Given the description of an element on the screen output the (x, y) to click on. 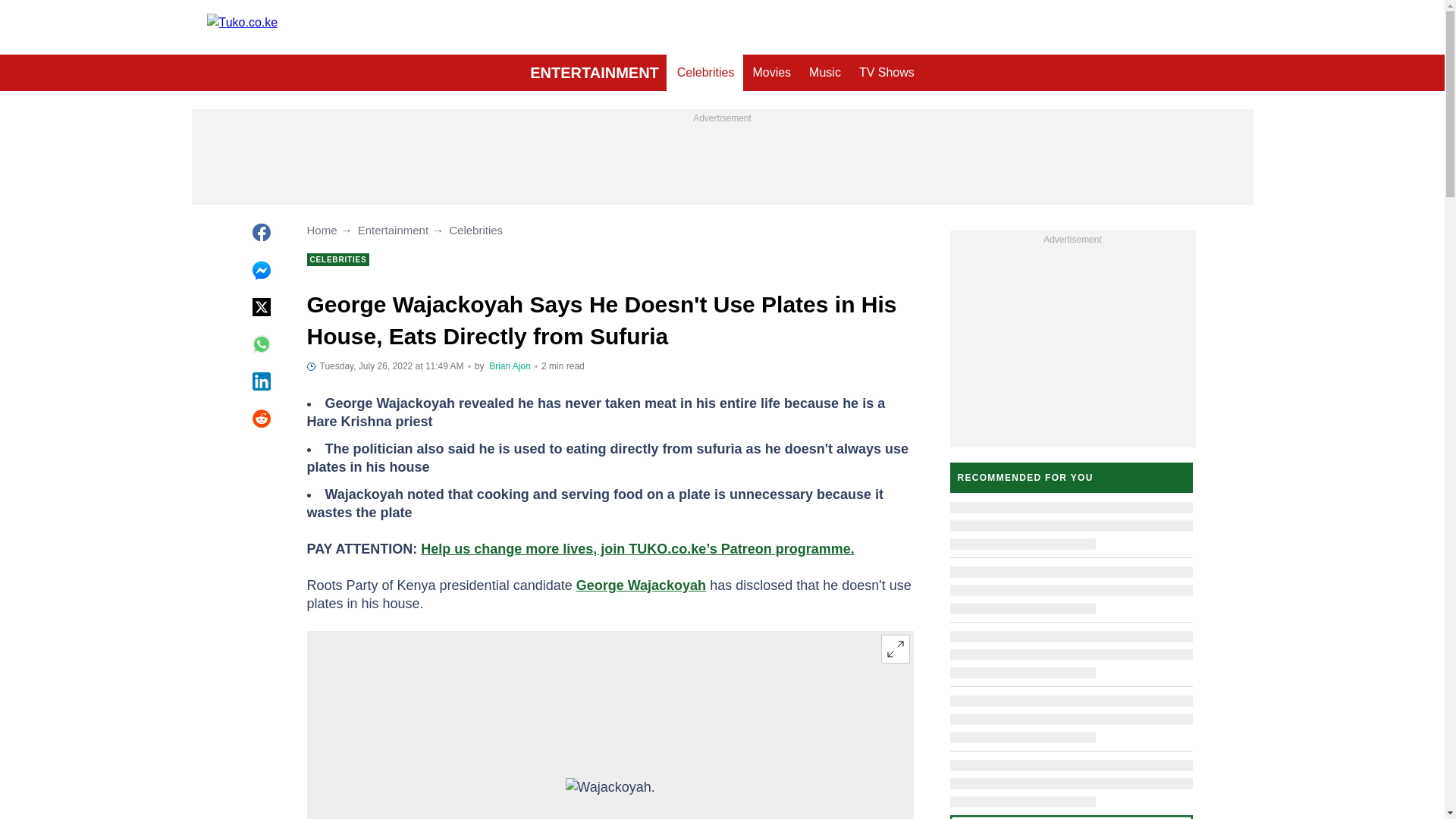
Expand image (895, 648)
Music (824, 72)
TV Shows (886, 72)
Wajackoyah. (608, 798)
Author page (510, 366)
Celebrities (706, 72)
Movies (770, 72)
ENTERTAINMENT (594, 72)
